Given the description of an element on the screen output the (x, y) to click on. 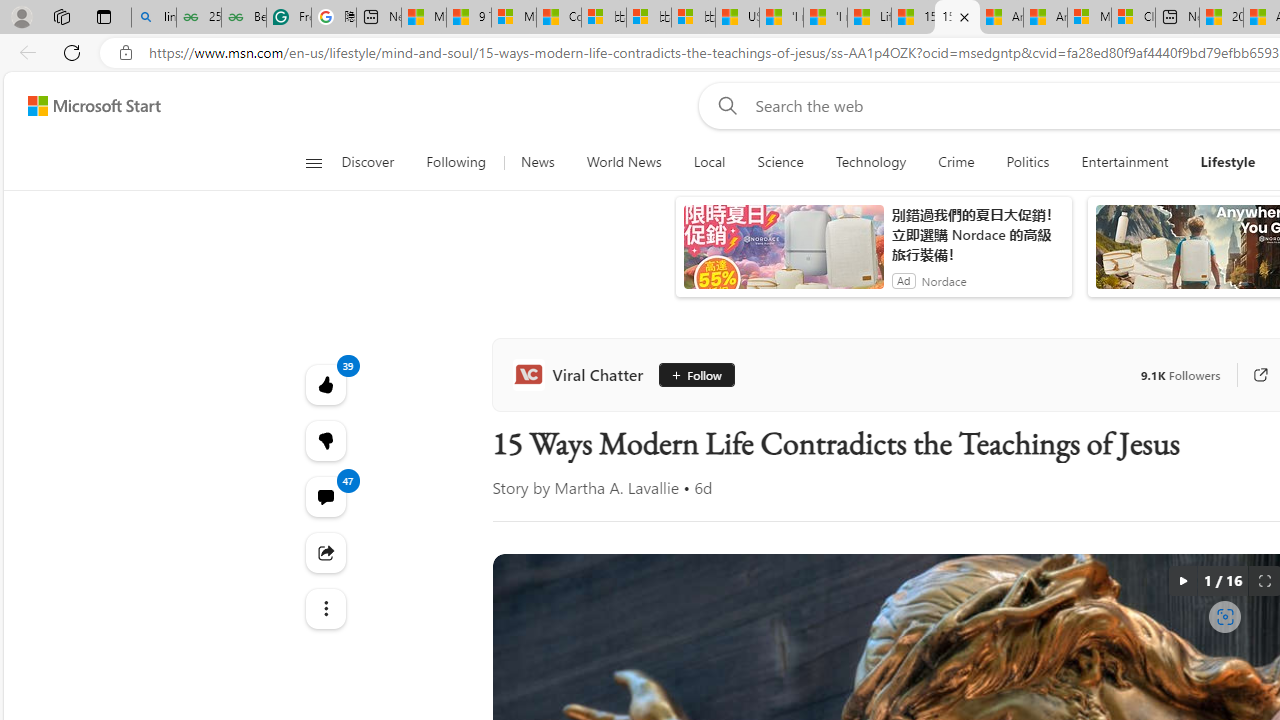
News (537, 162)
News (537, 162)
World News (623, 162)
Open navigation menu (313, 162)
View site information (125, 53)
Skip to footer (82, 105)
Class: button-glyph (313, 162)
Discover (367, 162)
Microsoft Services Agreement (1089, 17)
Science (779, 162)
Lifestyle (1228, 162)
Lifestyle (1227, 162)
